Given the description of an element on the screen output the (x, y) to click on. 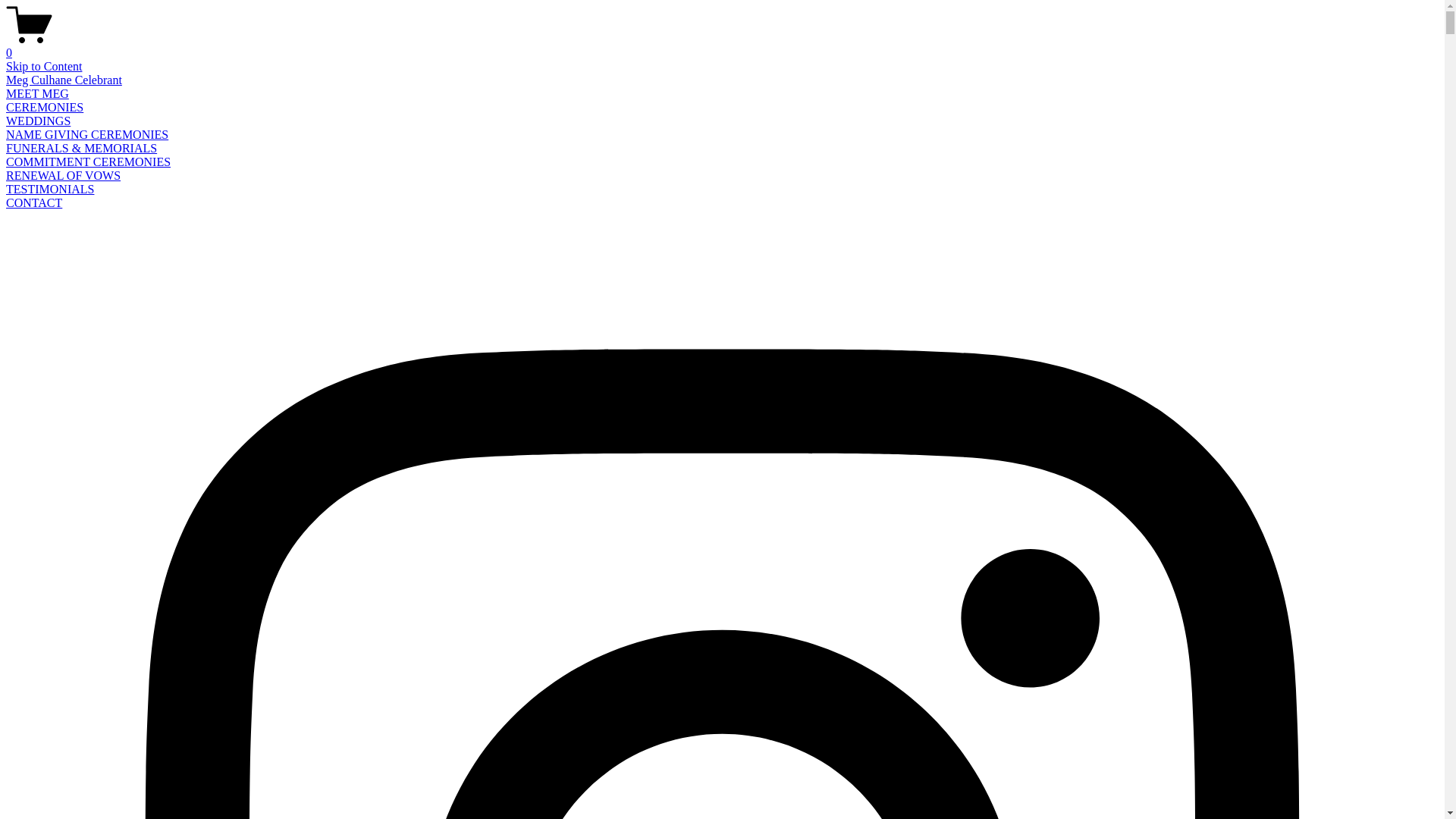
WEDDINGS Element type: text (38, 120)
Skip to Content Element type: text (43, 65)
RENEWAL OF VOWS Element type: text (63, 175)
MEET MEG Element type: text (37, 93)
FUNERALS & MEMORIALS Element type: text (81, 147)
NAME GIVING CEREMONIES Element type: text (87, 134)
Meg Culhane Celebrant Element type: text (64, 79)
CONTACT Element type: text (34, 202)
COMMITMENT CEREMONIES Element type: text (88, 161)
0 Element type: text (722, 45)
CEREMONIES Element type: text (44, 106)
TESTIMONIALS Element type: text (50, 188)
